Given the description of an element on the screen output the (x, y) to click on. 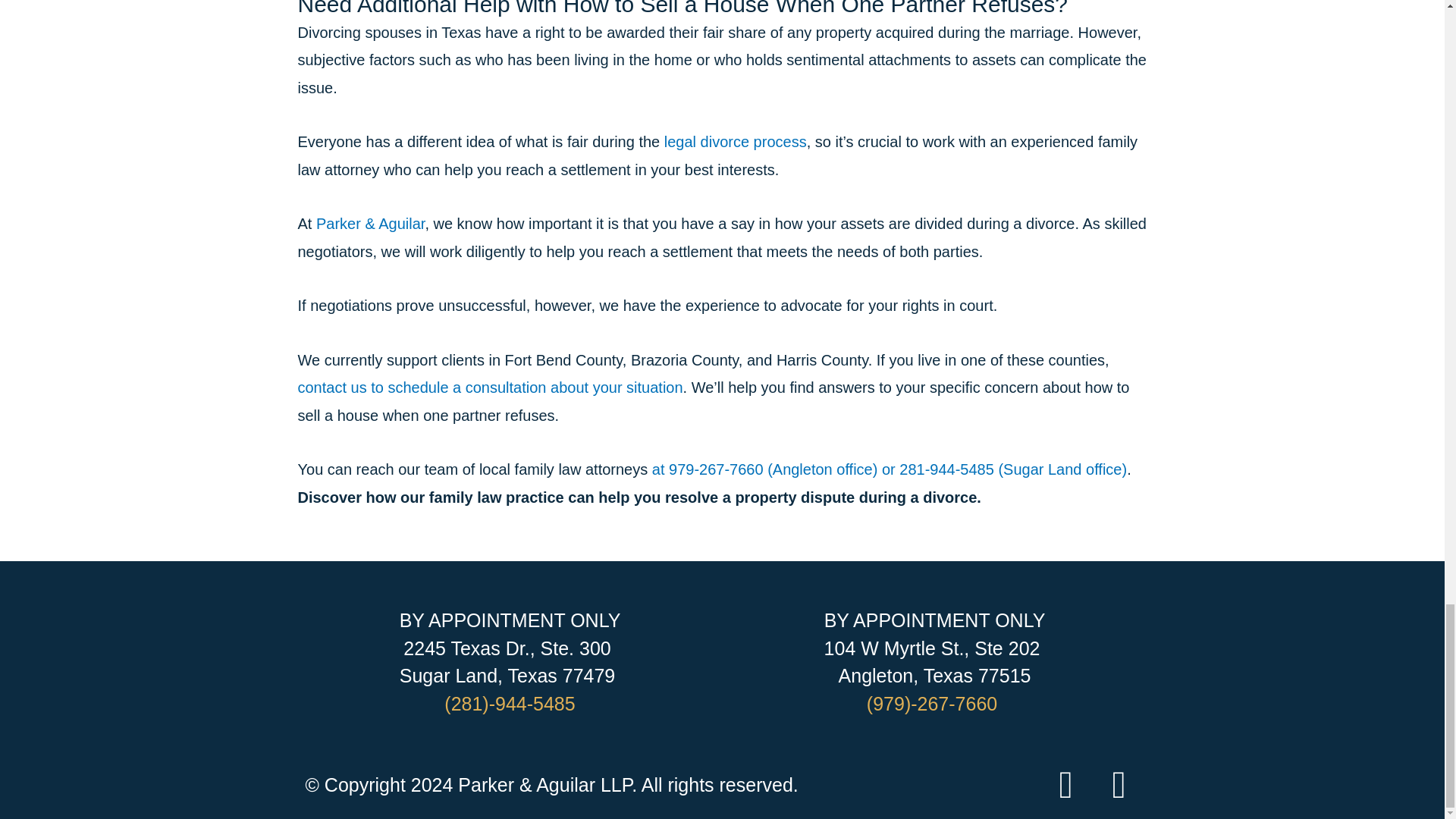
contact us to schedule a consultation about your situation (489, 387)
Linkedin (1065, 784)
legal divorce process (734, 141)
Facebook (1119, 784)
